Given the description of an element on the screen output the (x, y) to click on. 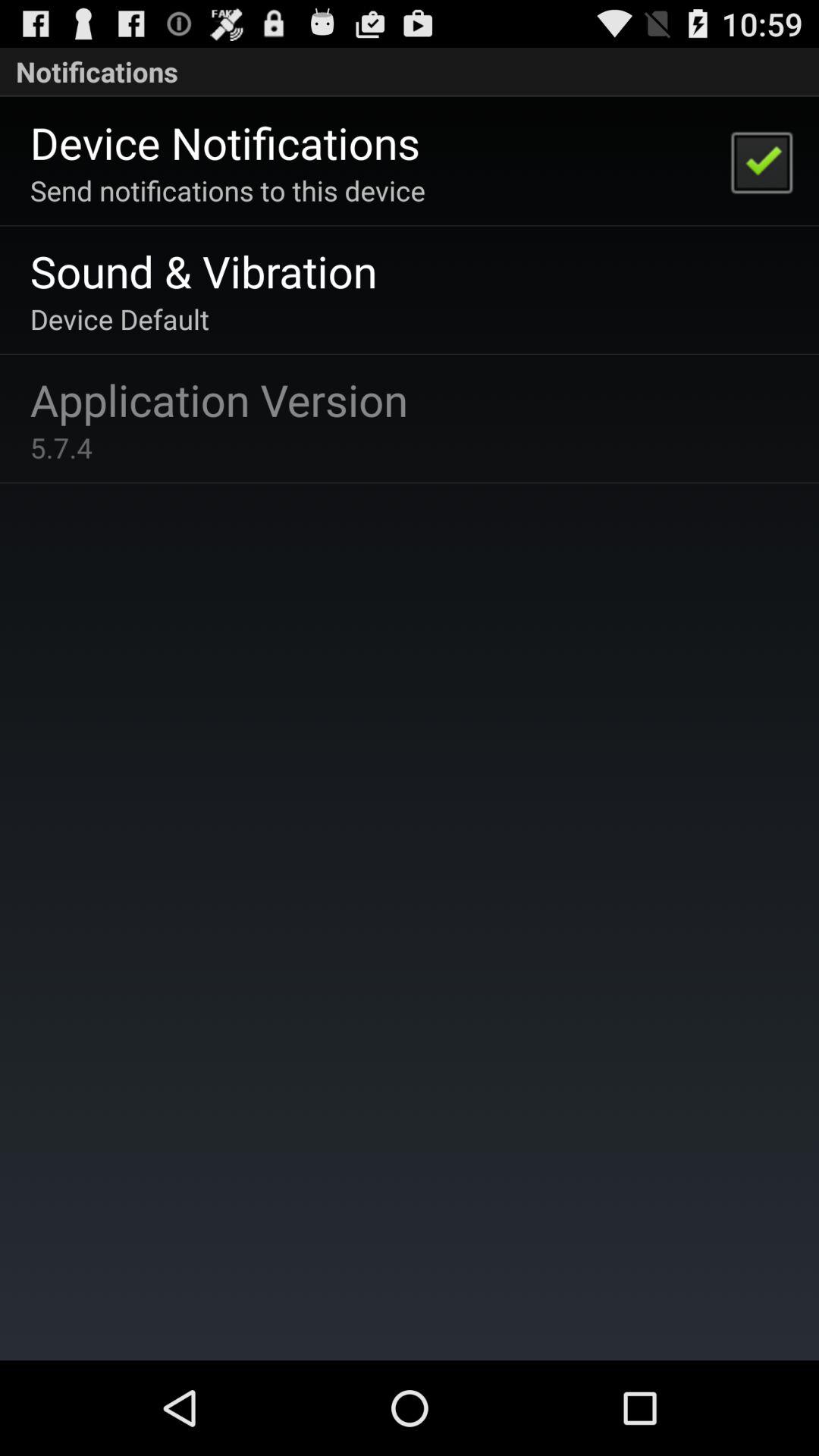
press the item below the device notifications (227, 190)
